Given the description of an element on the screen output the (x, y) to click on. 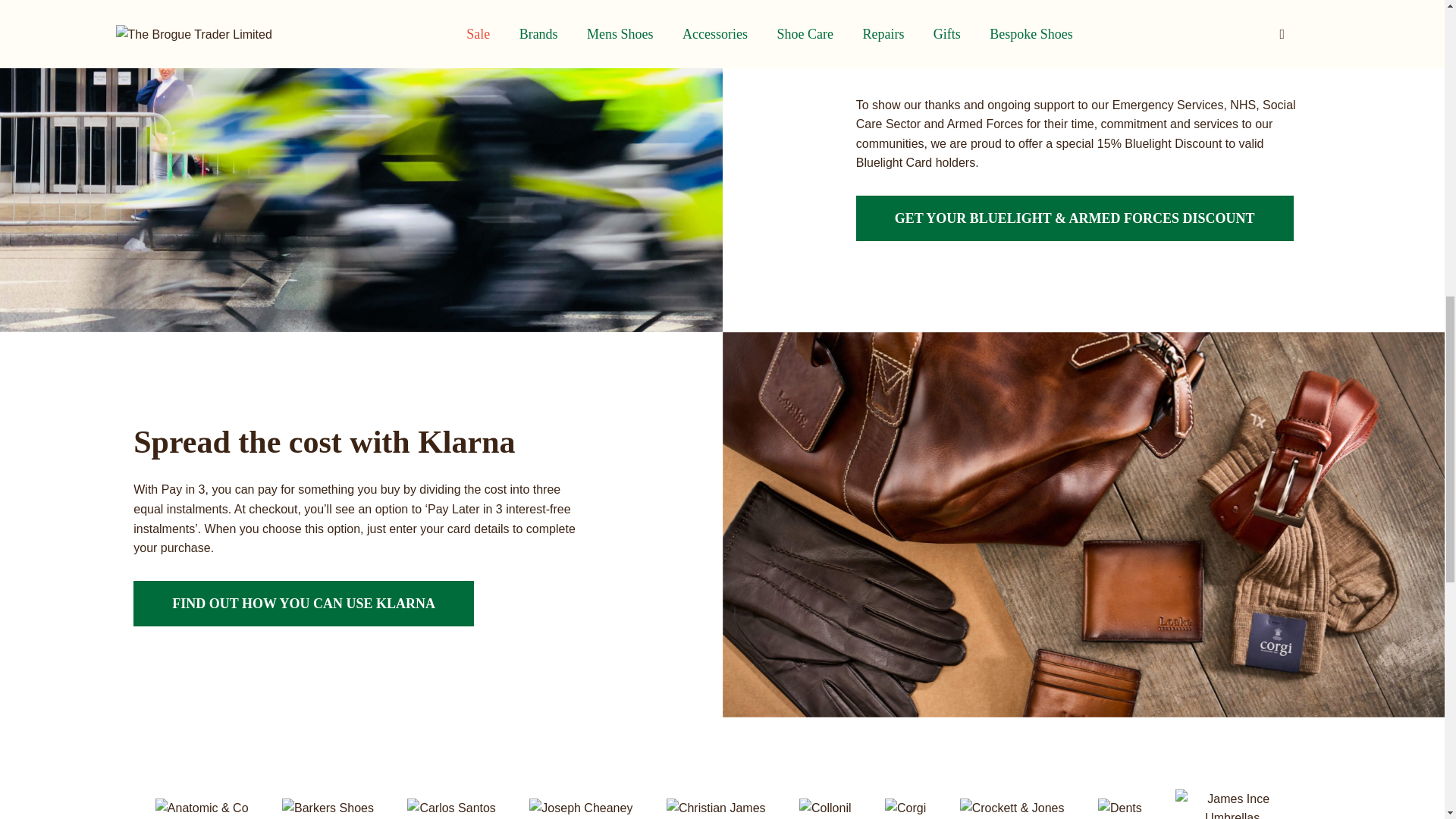
Corgi (906, 807)
Christian James (717, 807)
Collonil (826, 807)
Joseph Cheaney (581, 807)
Find out how you can use Klarna (303, 603)
Dents (1121, 807)
Barkers Shoes (328, 807)
James Ince Umbrellas (1232, 807)
Carlos Santos (452, 807)
